Given the description of an element on the screen output the (x, y) to click on. 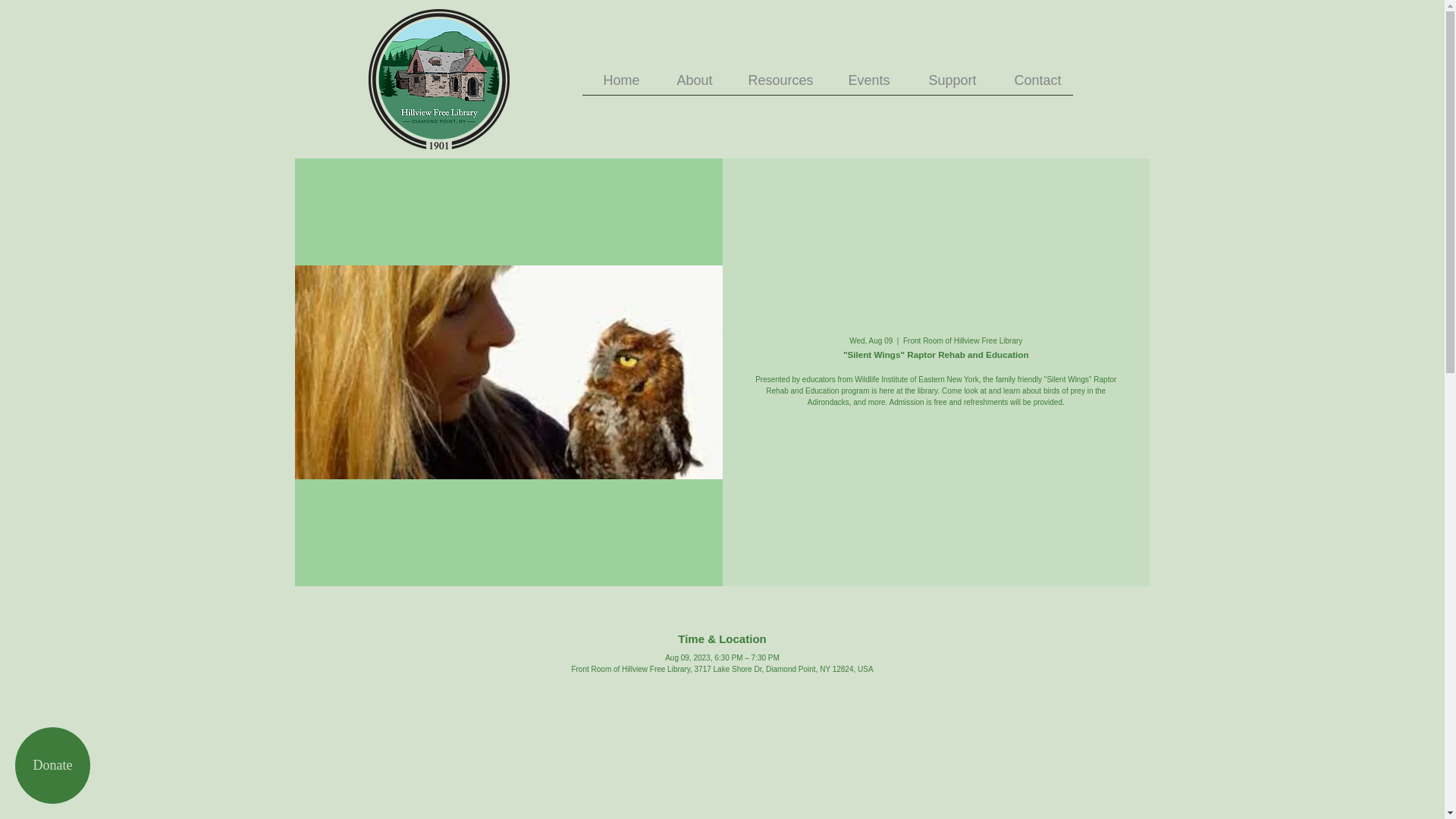
Donate (52, 765)
About (686, 85)
Contact (1029, 85)
Home (616, 85)
Support (944, 85)
Events (863, 85)
Resources (773, 85)
